Given the description of an element on the screen output the (x, y) to click on. 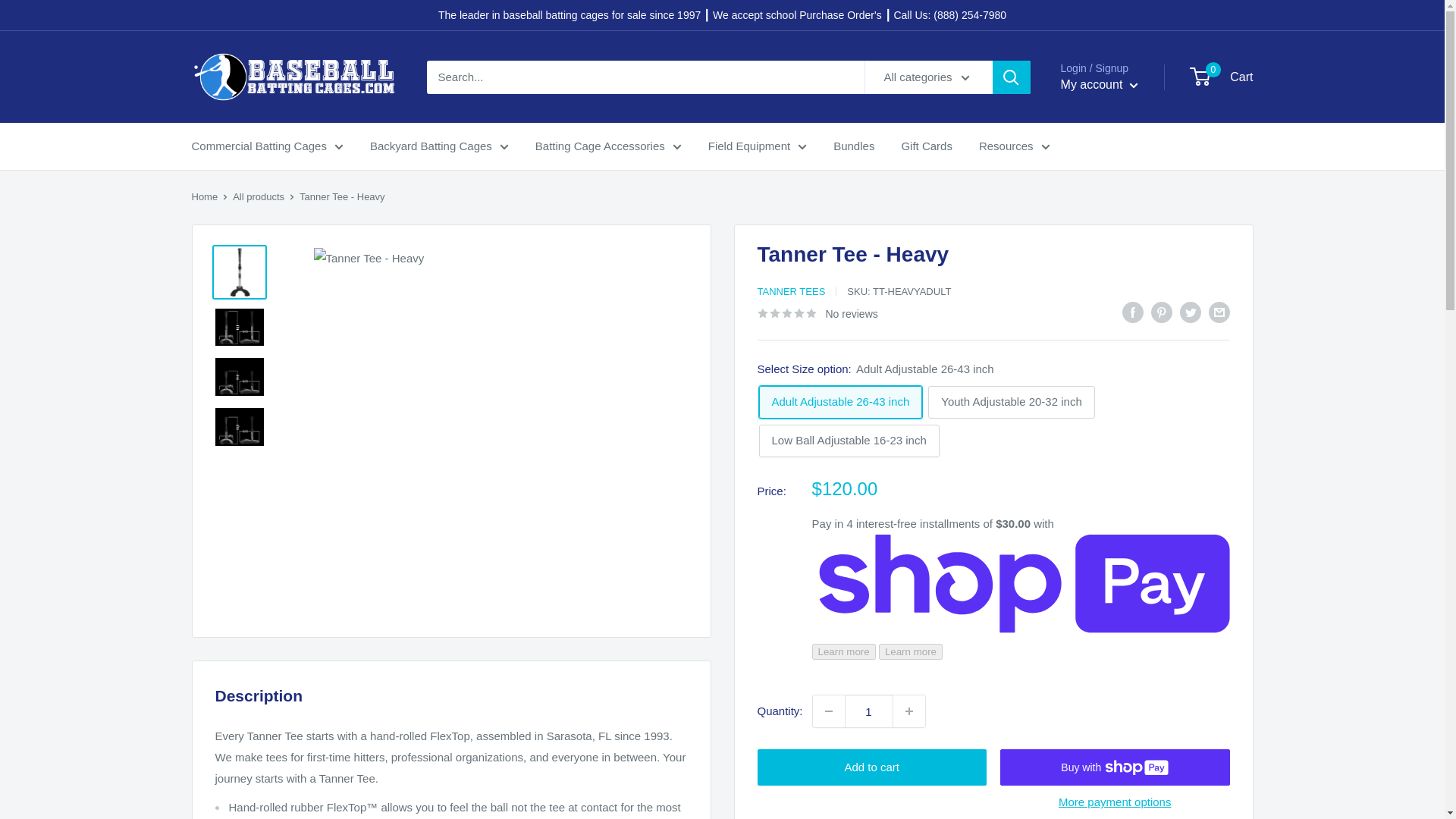
Youth Adjustable 20-32 inch (1011, 401)
Decrease quantity by 1 (828, 711)
Low Ball Adjustable 16-23 inch (848, 441)
Increase quantity by 1 (908, 711)
1 (868, 711)
Adult Adjustable 26-43 inch (839, 401)
